Given the description of an element on the screen output the (x, y) to click on. 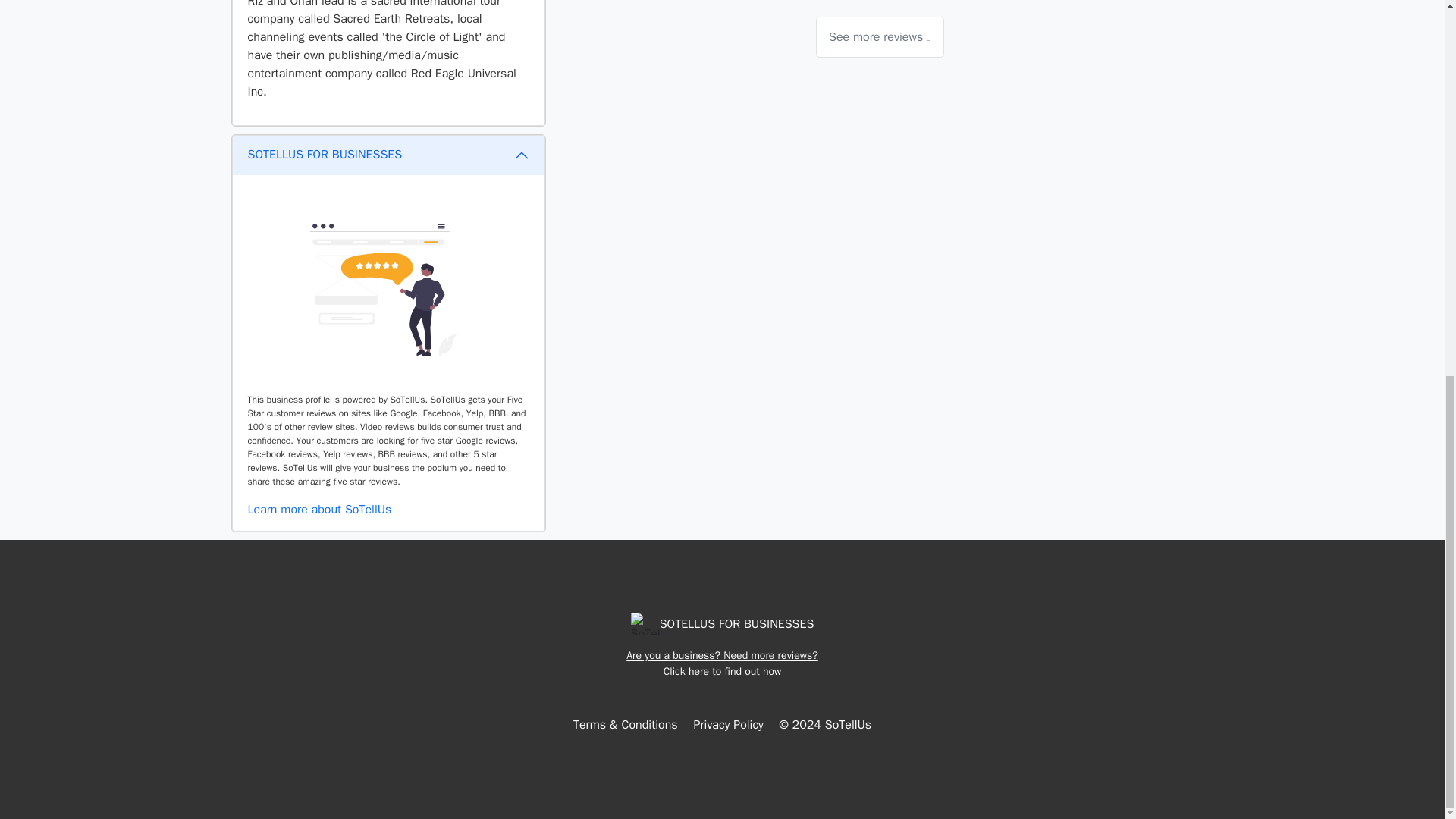
SOTELLUS FOR BUSINESSES (387, 155)
Learn more about SoTellUs (319, 509)
See more reviews (879, 36)
Privacy Policy (727, 724)
